Given the description of an element on the screen output the (x, y) to click on. 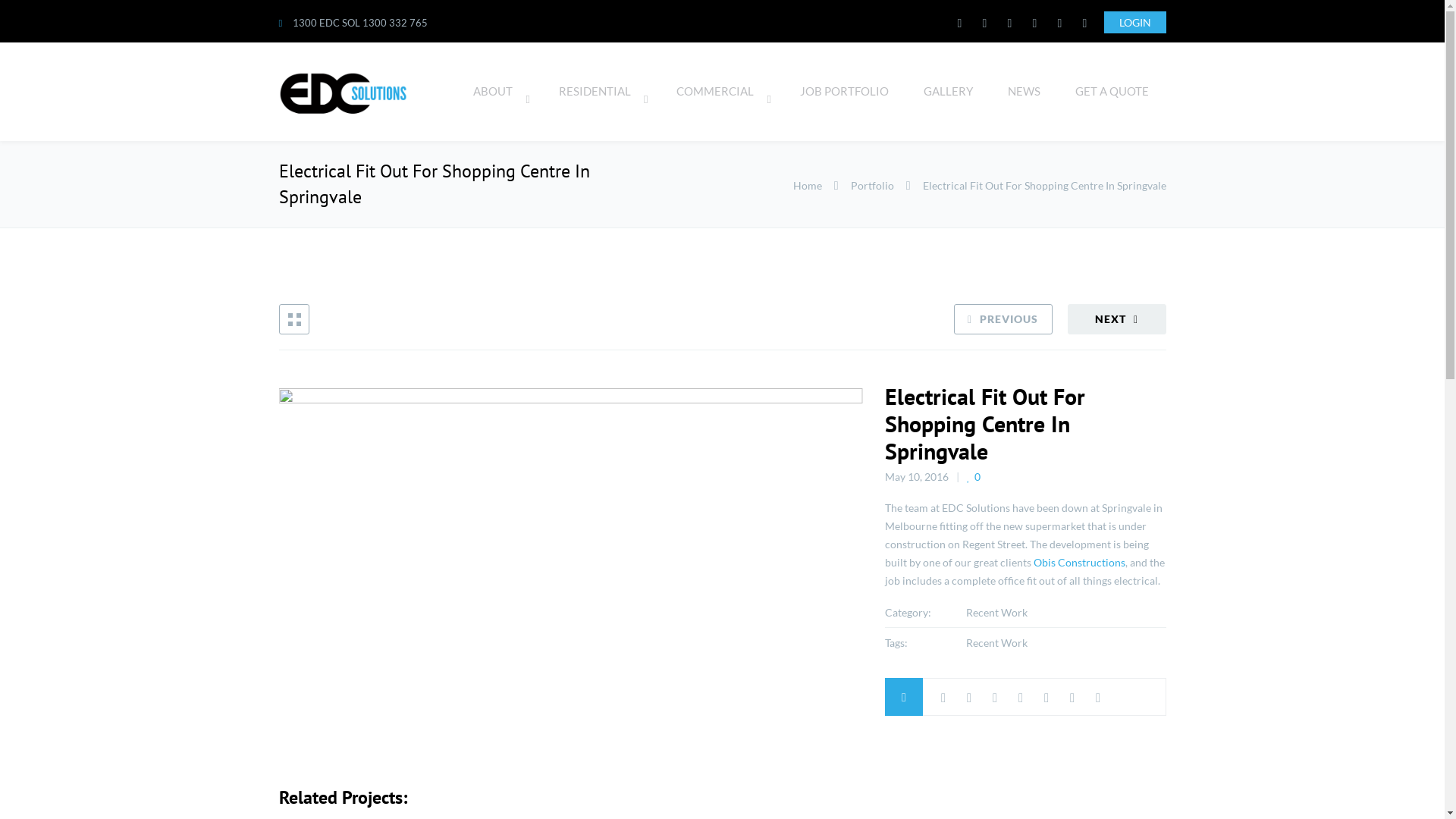
Obis Constructions Element type: text (1079, 561)
ABOUT Element type: text (498, 91)
GET A QUOTE Element type: text (1111, 91)
JOB PORTFOLIO Element type: text (844, 91)
RESIDENTIAL Element type: text (600, 91)
0 Element type: text (973, 476)
Portfolio Element type: text (872, 184)
PREVIOUS Element type: text (1002, 319)
GALLERY Element type: text (947, 91)
NEWS Element type: text (1023, 91)
NEXT Element type: text (1116, 319)
Home Element type: text (808, 184)
LOGIN Element type: text (1135, 22)
COMMERCIAL Element type: text (720, 91)
1300 332 765 Element type: text (394, 22)
EDC Solutions Element type: hover (343, 92)
